Given the description of an element on the screen output the (x, y) to click on. 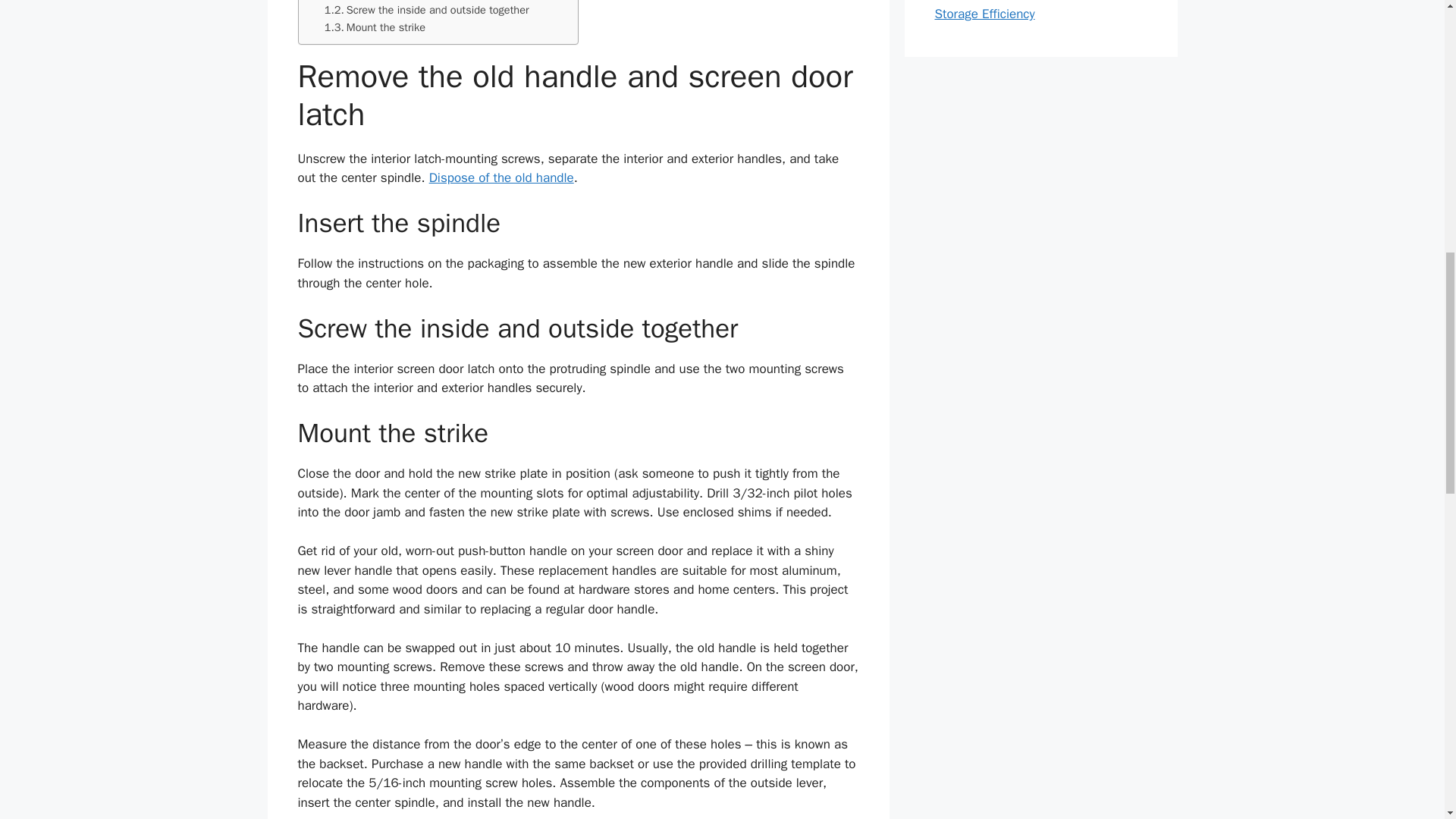
Screw the inside and outside together (426, 9)
Mount the strike (374, 27)
